Given the description of an element on the screen output the (x, y) to click on. 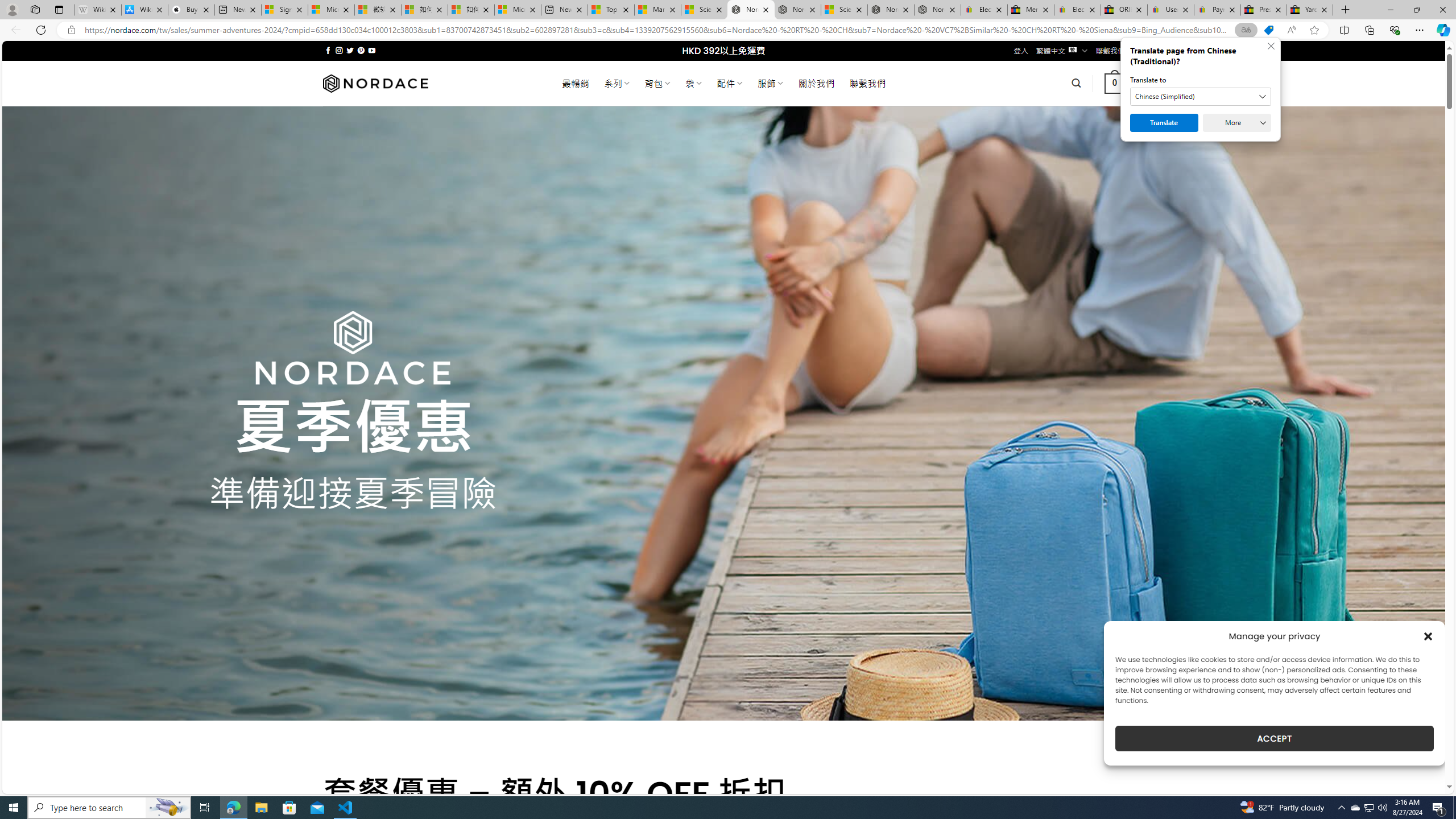
Follow on Facebook (327, 50)
User Privacy Notice | eBay (1170, 9)
Browser essentials (1394, 29)
Follow on Instagram (338, 50)
New tab (563, 9)
New Tab (1346, 9)
Restore (1416, 9)
Microsoft account | Account Checkup (517, 9)
Top Stories - MSN (610, 9)
Workspaces (34, 9)
Settings and more (Alt+F) (1419, 29)
